Given the description of an element on the screen output the (x, y) to click on. 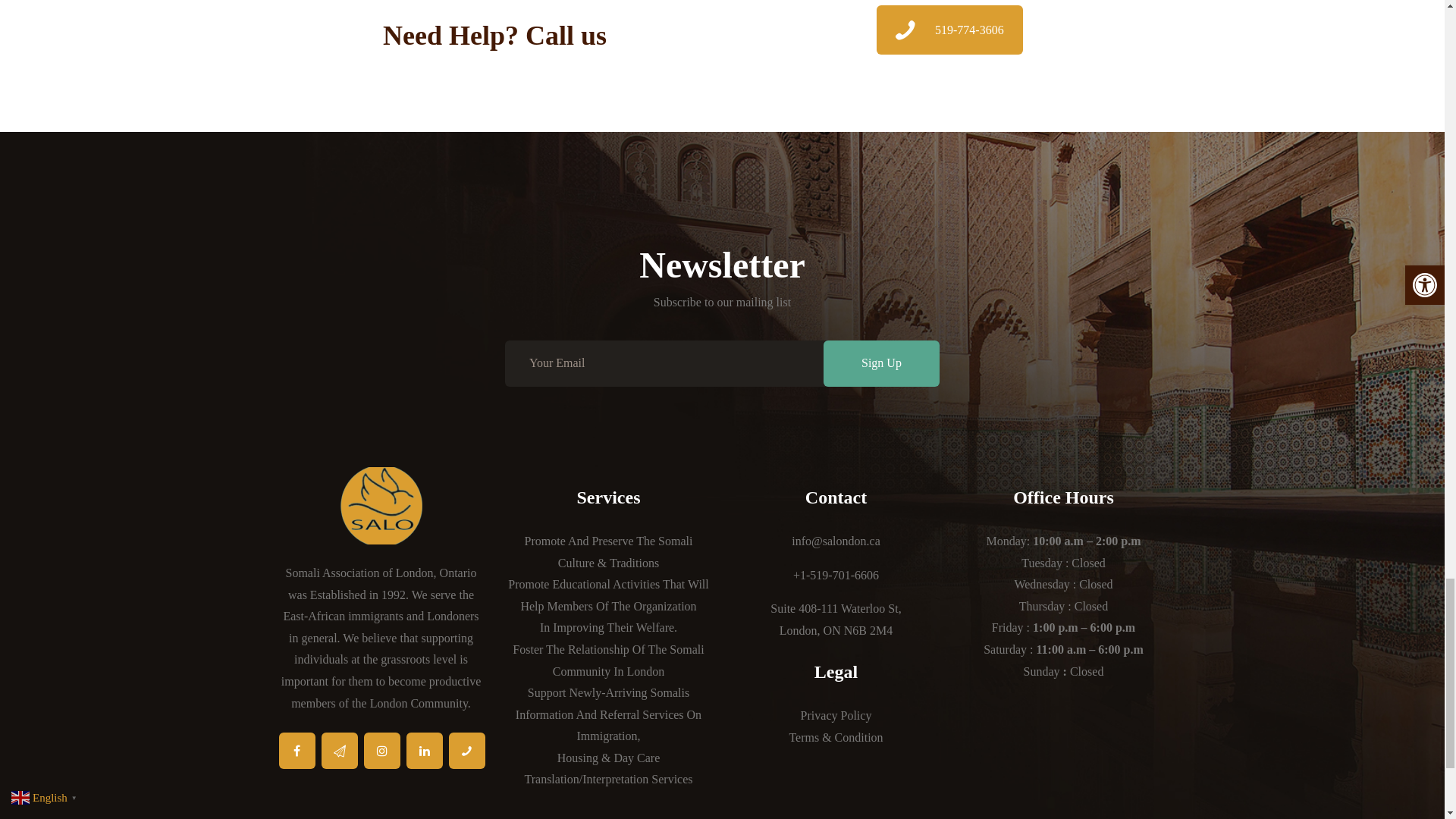
Sign Up (881, 363)
cropped-last-300x104-3 (380, 505)
519-774-3606 (949, 29)
